Given the description of an element on the screen output the (x, y) to click on. 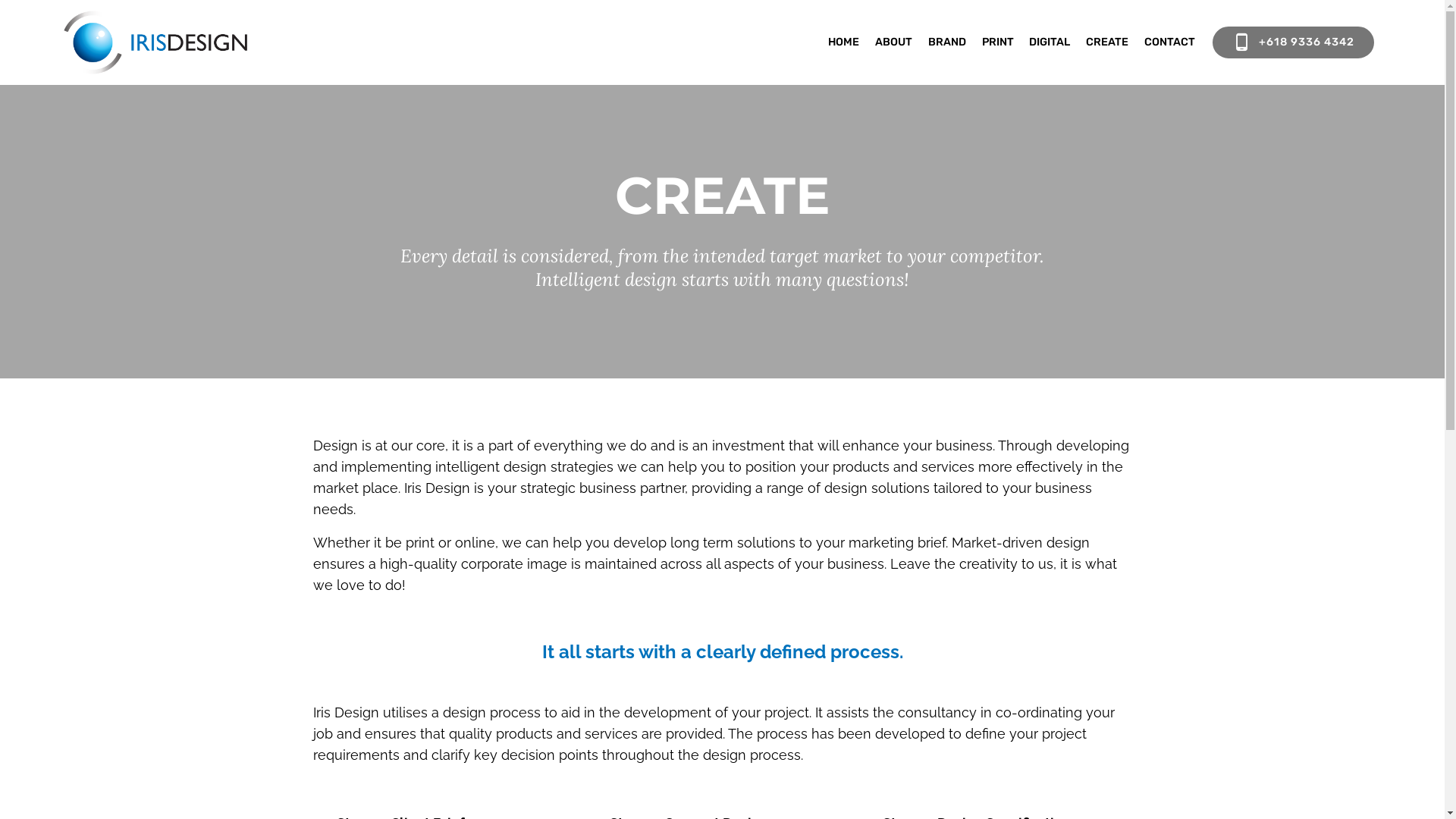
+618 9336 4342 Element type: text (1293, 42)
CONTACT Element type: text (1169, 42)
BRAND Element type: text (947, 42)
PRINT Element type: text (997, 42)
HOME Element type: text (843, 42)
CREATE Element type: text (1106, 42)
ABOUT Element type: text (893, 42)
DIGITAL Element type: text (1049, 42)
